Given the description of an element on the screen output the (x, y) to click on. 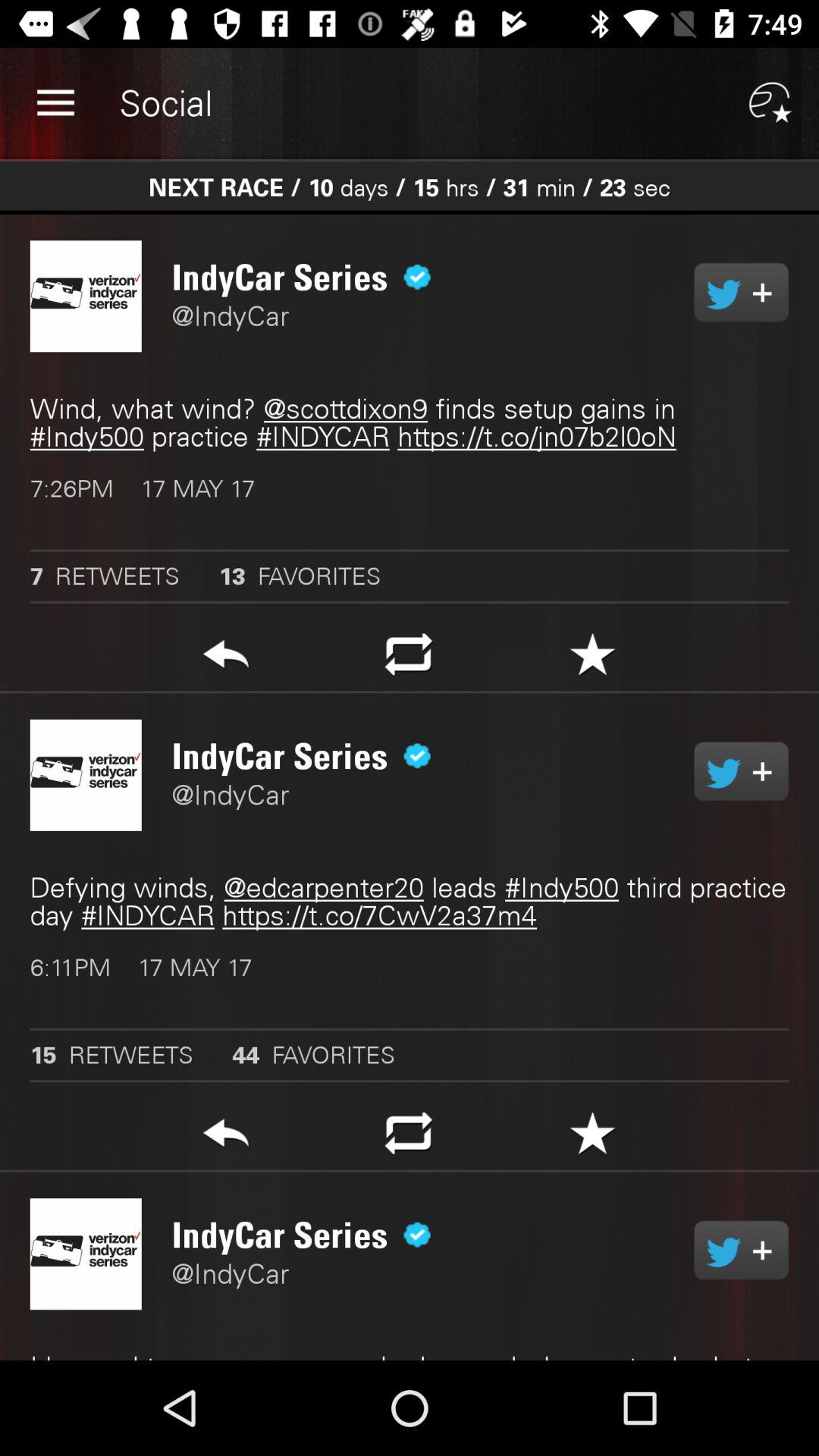
tweet post (740, 291)
